Given the description of an element on the screen output the (x, y) to click on. 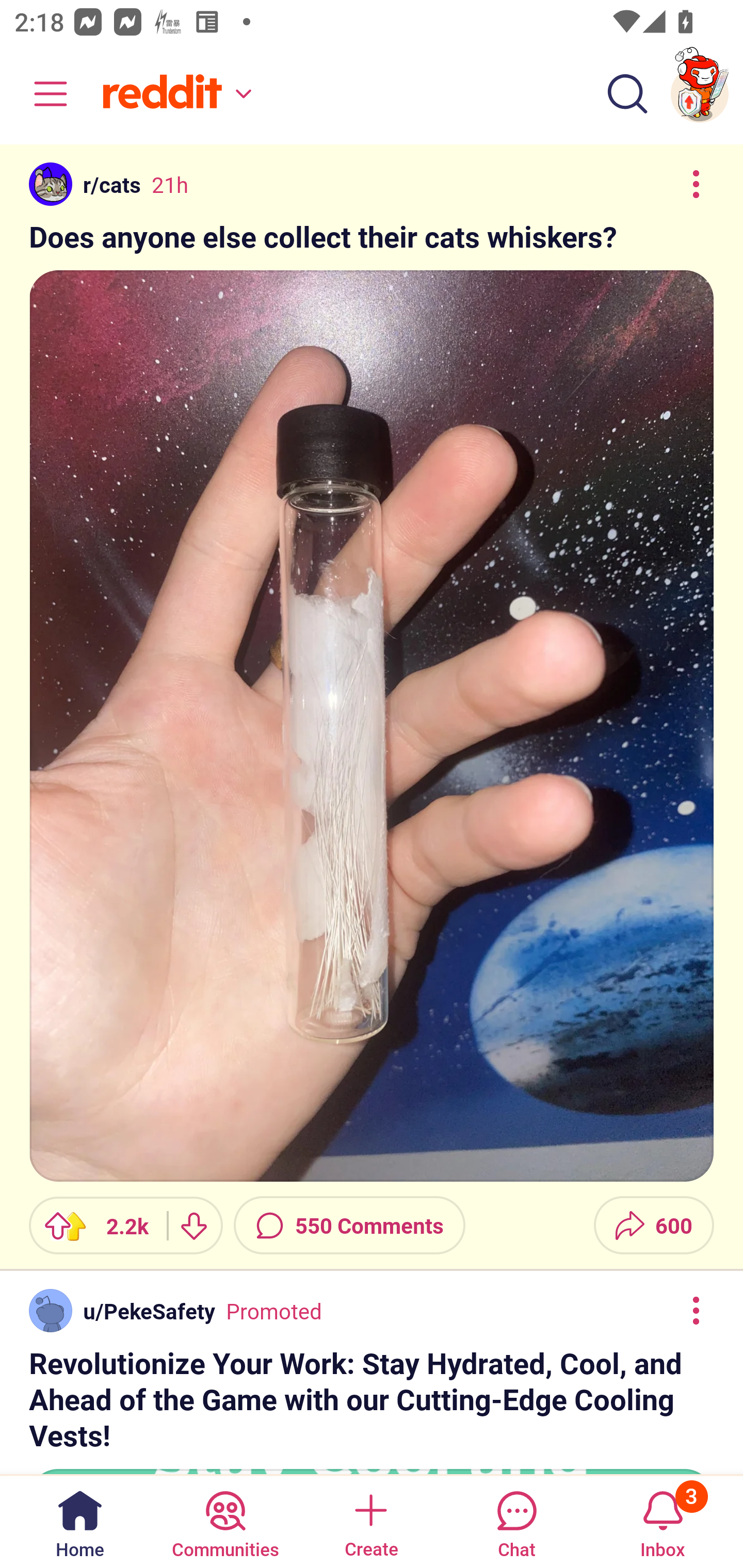
Search (626, 93)
TestAppium002 account (699, 93)
Community menu (41, 94)
Home feed (173, 94)
Home (80, 1520)
Communities (225, 1520)
Create a post Create (370, 1520)
Chat (516, 1520)
Inbox, has 3 notifications 3 Inbox (662, 1520)
